Given the description of an element on the screen output the (x, y) to click on. 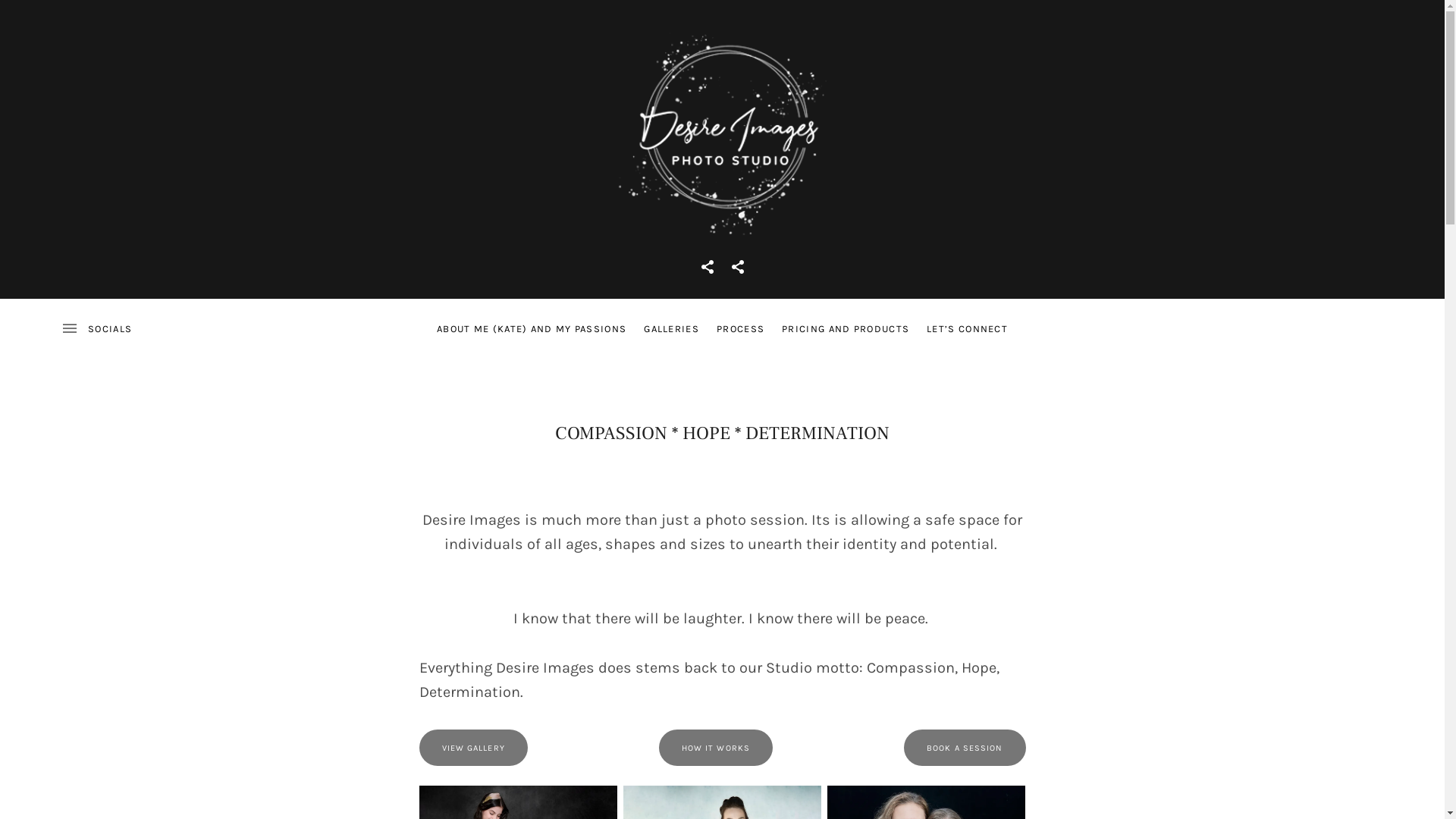
PRICING AND PRODUCTS Element type: text (845, 328)
HOW IT WORKS Element type: text (715, 747)
PROCESS Element type: text (740, 328)
ABOUT ME (KATE) AND MY PASSIONS Element type: text (531, 328)
Book Your Photoshoot! Element type: text (706, 266)
GALLERIES Element type: text (671, 328)
BOOK A SESSION Element type: text (964, 747)
Search Element type: text (40, 18)
VIEW GALLERY Element type: text (472, 747)
Things they say :) Element type: text (737, 266)
